Given the description of an element on the screen output the (x, y) to click on. 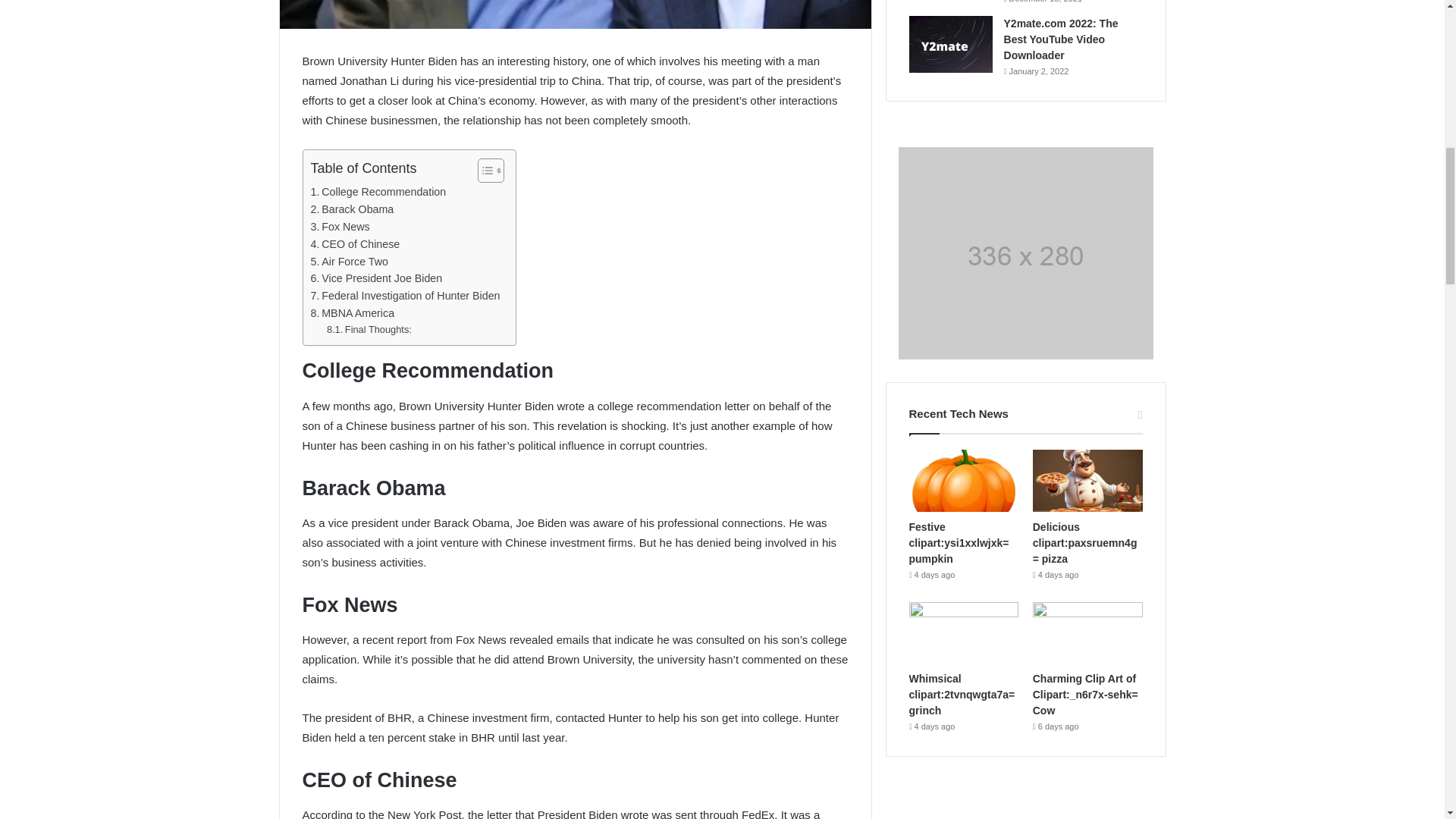
Fox News (340, 226)
College Recommendation (378, 191)
CEO of Chinese (355, 244)
Barack Obama (352, 209)
